Given the description of an element on the screen output the (x, y) to click on. 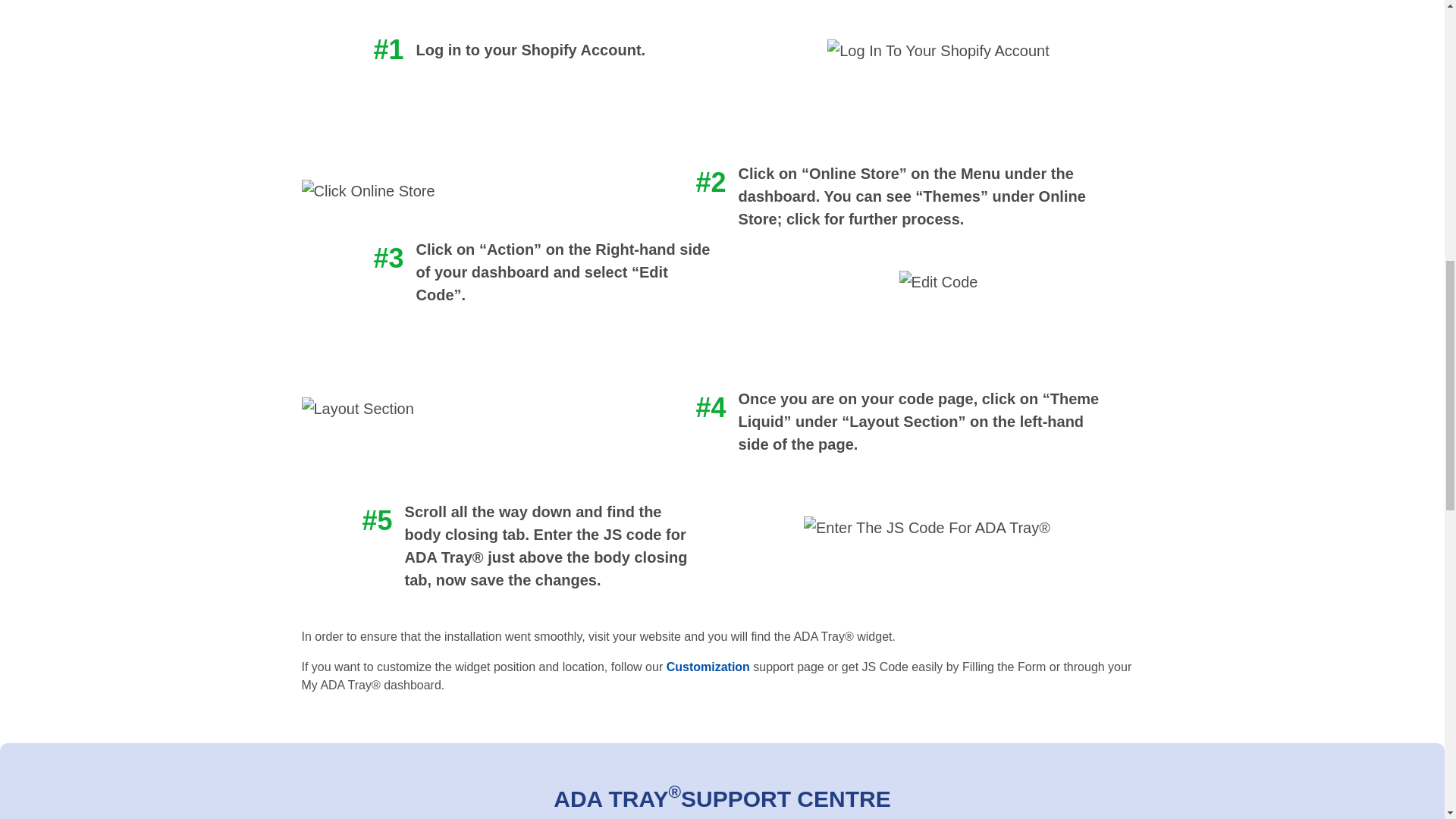
Customization (707, 666)
